Given the description of an element on the screen output the (x, y) to click on. 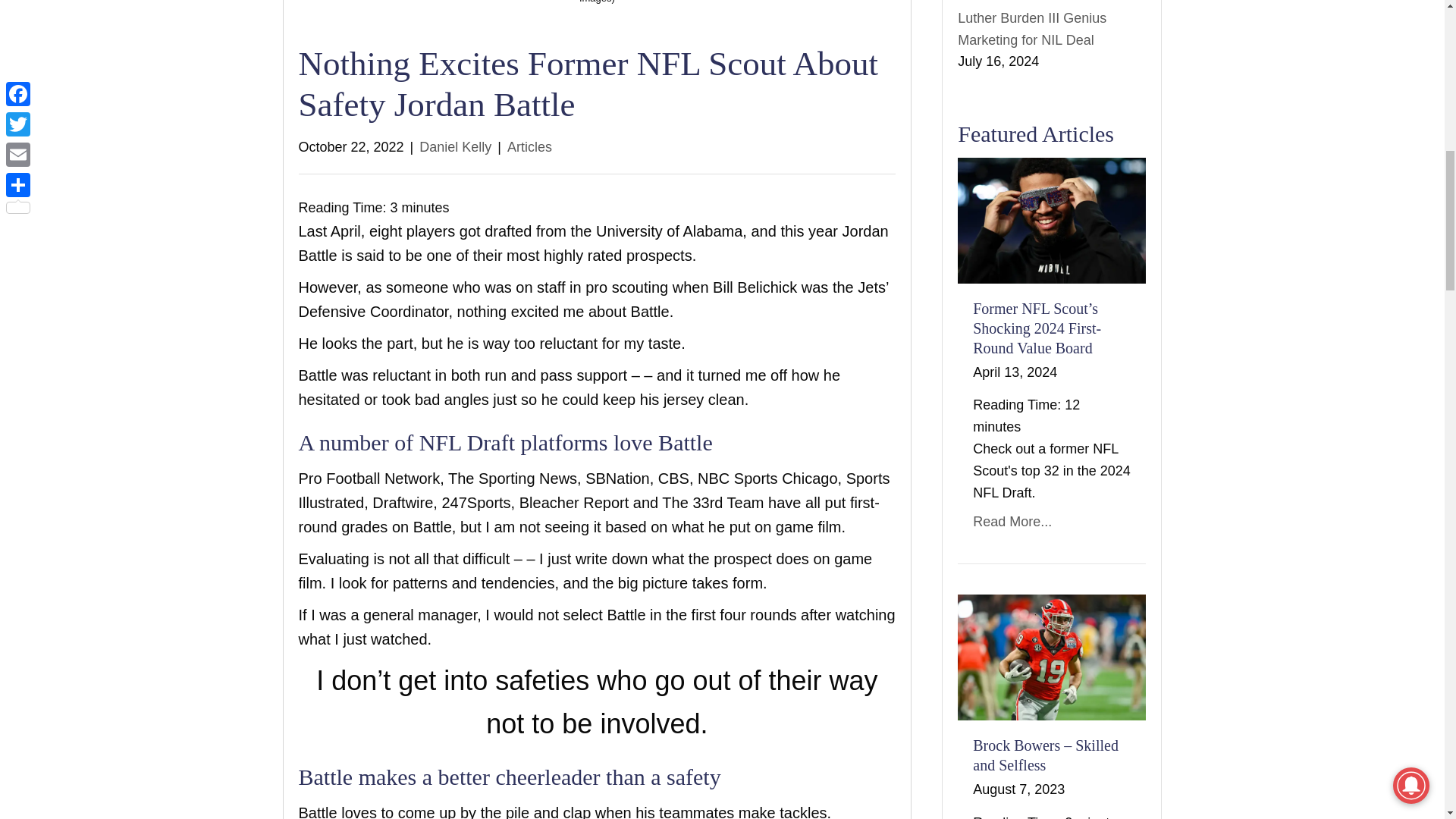
Daniel Kelly (455, 146)
Luther Burden III Genius Marketing for NIL Deal (1032, 28)
Articles (528, 146)
Read More... (1011, 521)
